Given the description of an element on the screen output the (x, y) to click on. 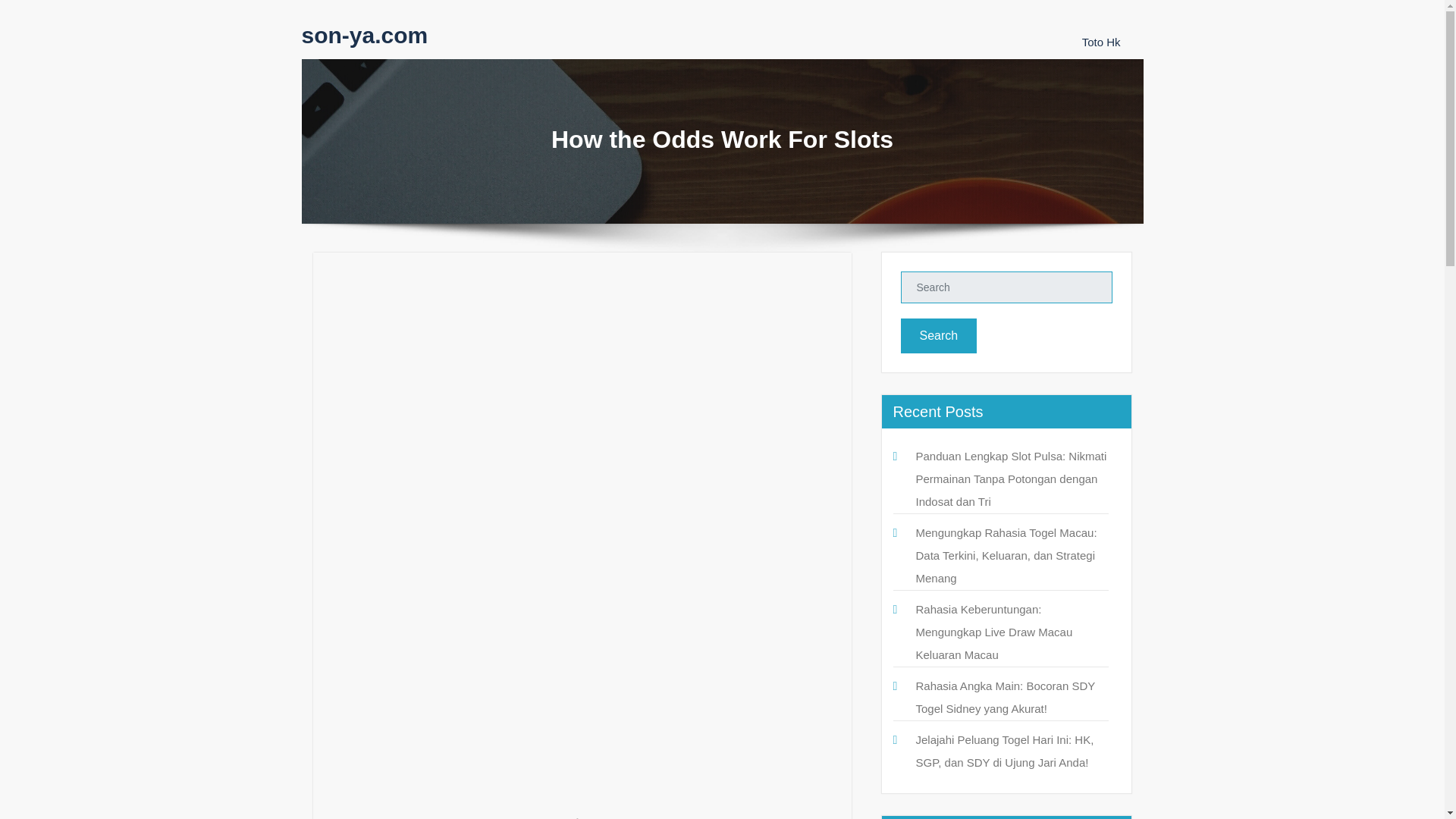
Toto Hk (1101, 41)
keluaran sgp (440, 673)
son-ya.com (364, 34)
Rahasia Angka Main: Bocoran SDY Togel Sidney yang Akurat! (1005, 696)
Search (938, 335)
March 16, 2023 (378, 279)
